Given the description of an element on the screen output the (x, y) to click on. 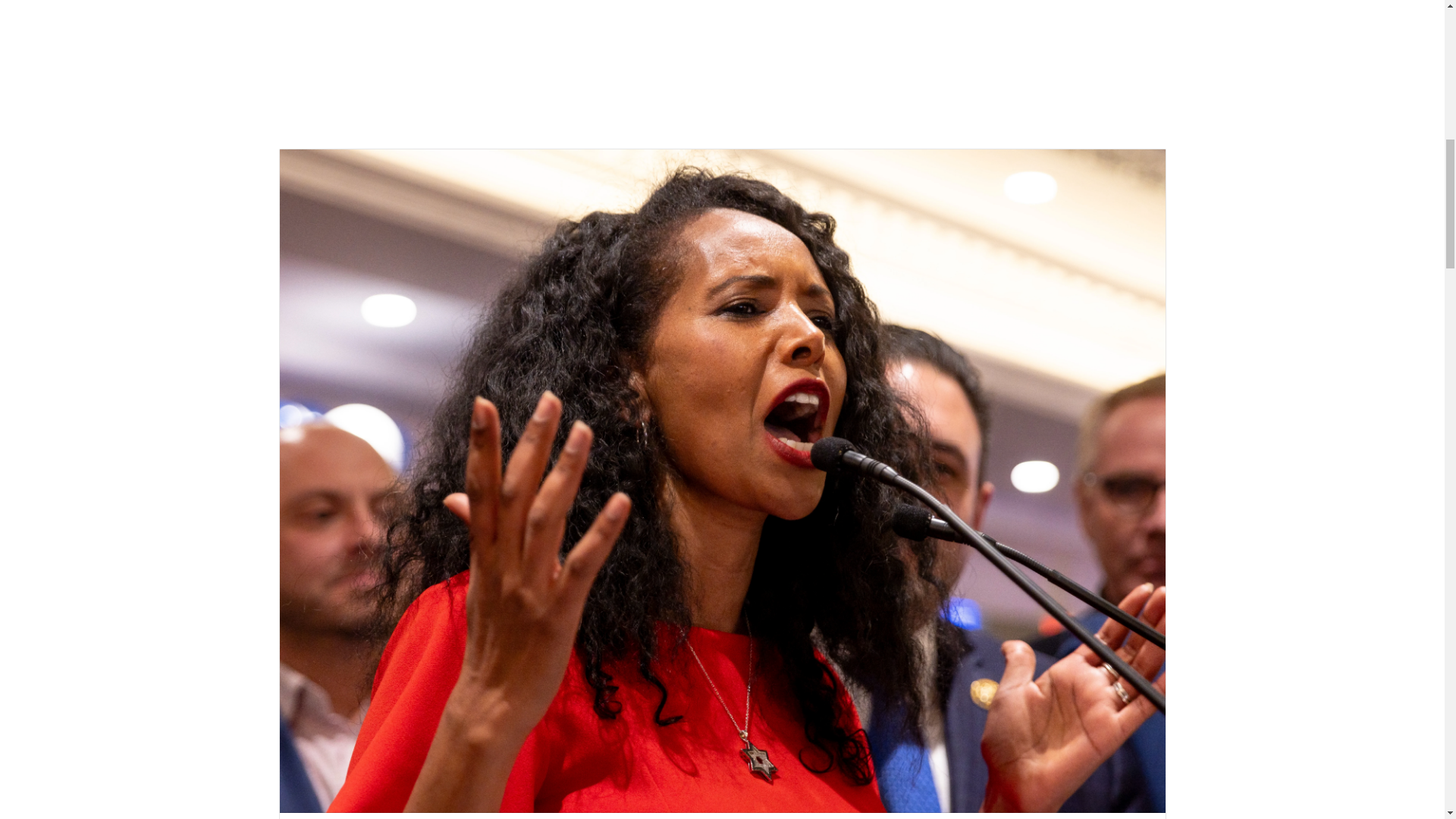
Advertisement (722, 63)
